Given the description of an element on the screen output the (x, y) to click on. 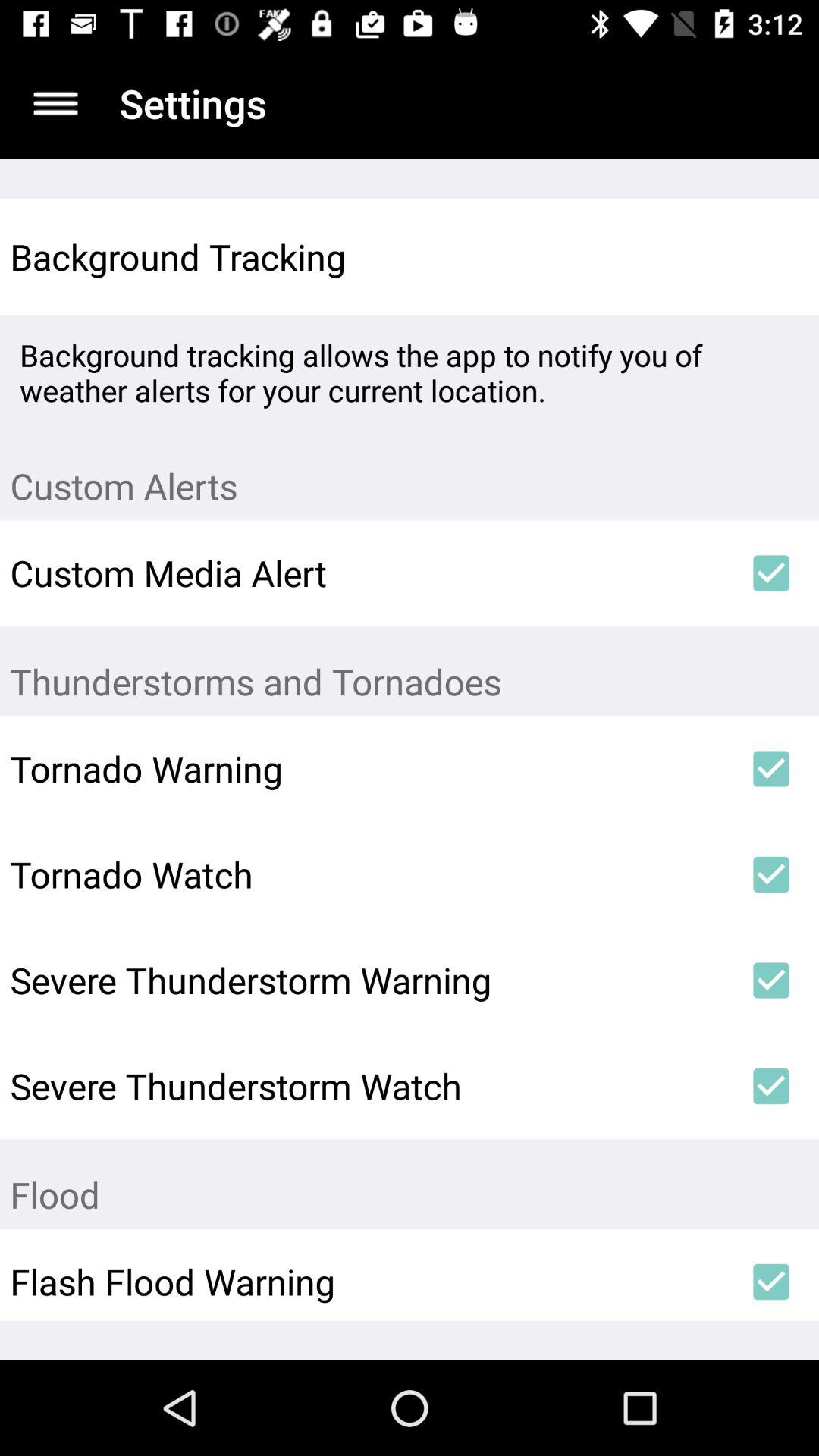
launch the icon above the flood item (771, 1086)
